Given the description of an element on the screen output the (x, y) to click on. 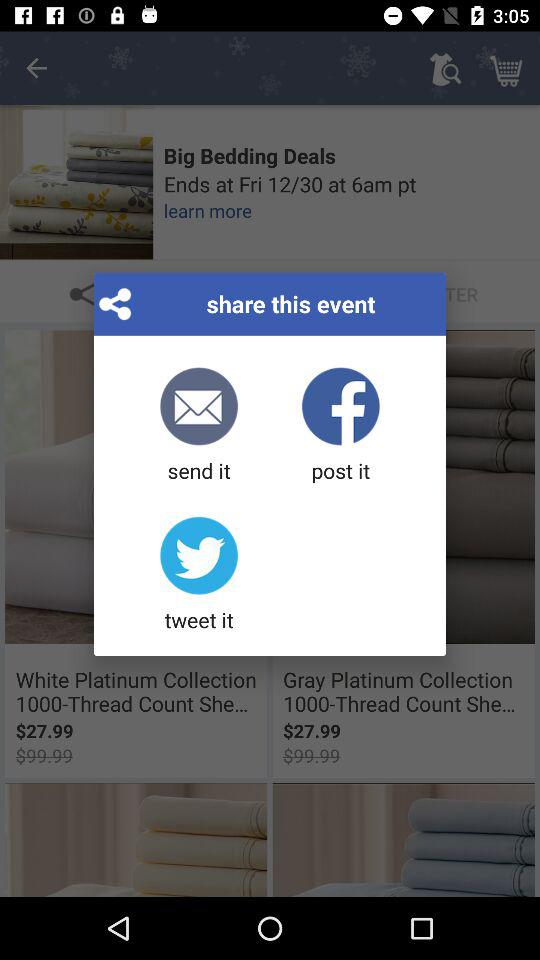
select the icon to the right of the send it icon (340, 425)
